Given the description of an element on the screen output the (x, y) to click on. 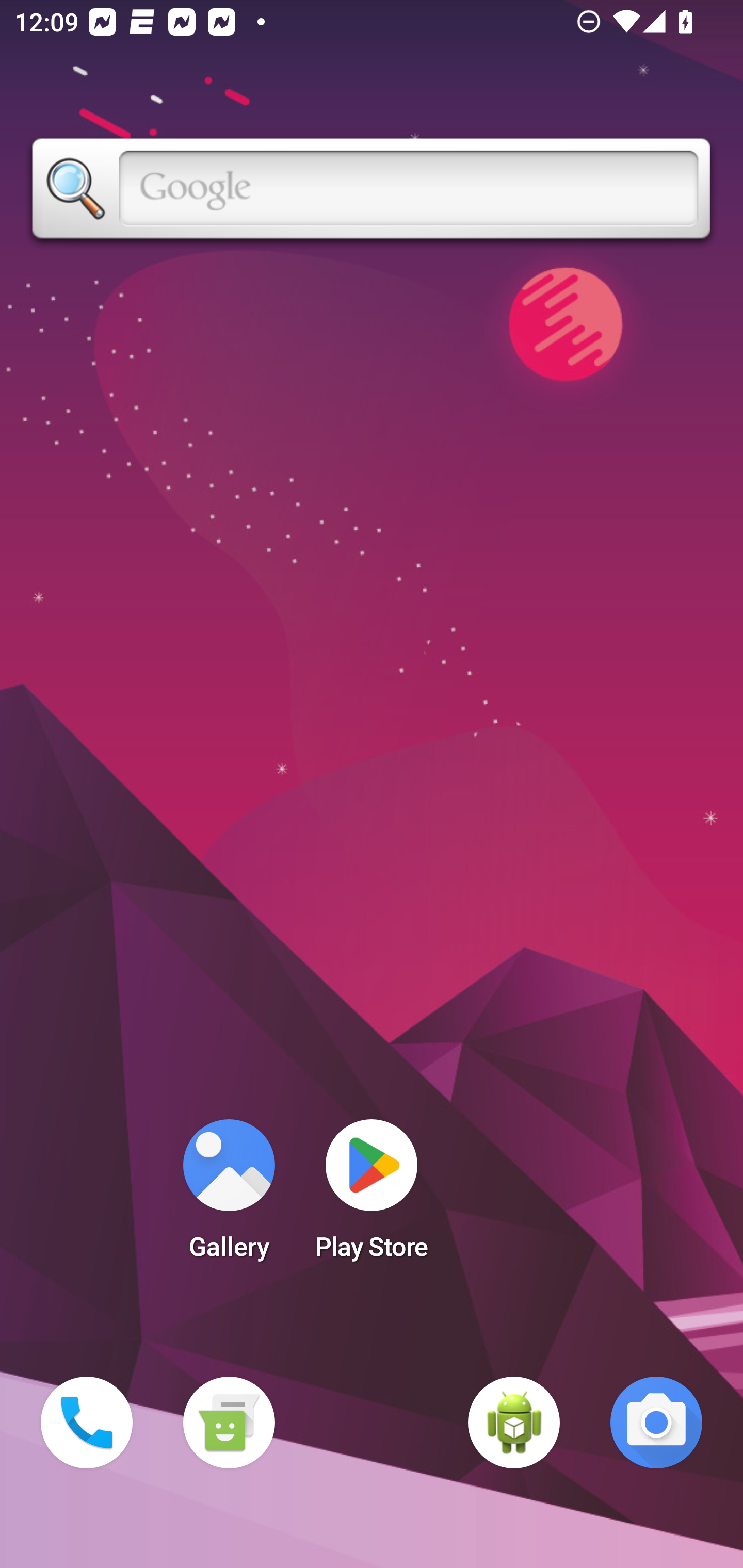
Gallery (228, 1195)
Play Store (371, 1195)
Phone (86, 1422)
Messaging (228, 1422)
WebView Browser Tester (513, 1422)
Camera (656, 1422)
